Given the description of an element on the screen output the (x, y) to click on. 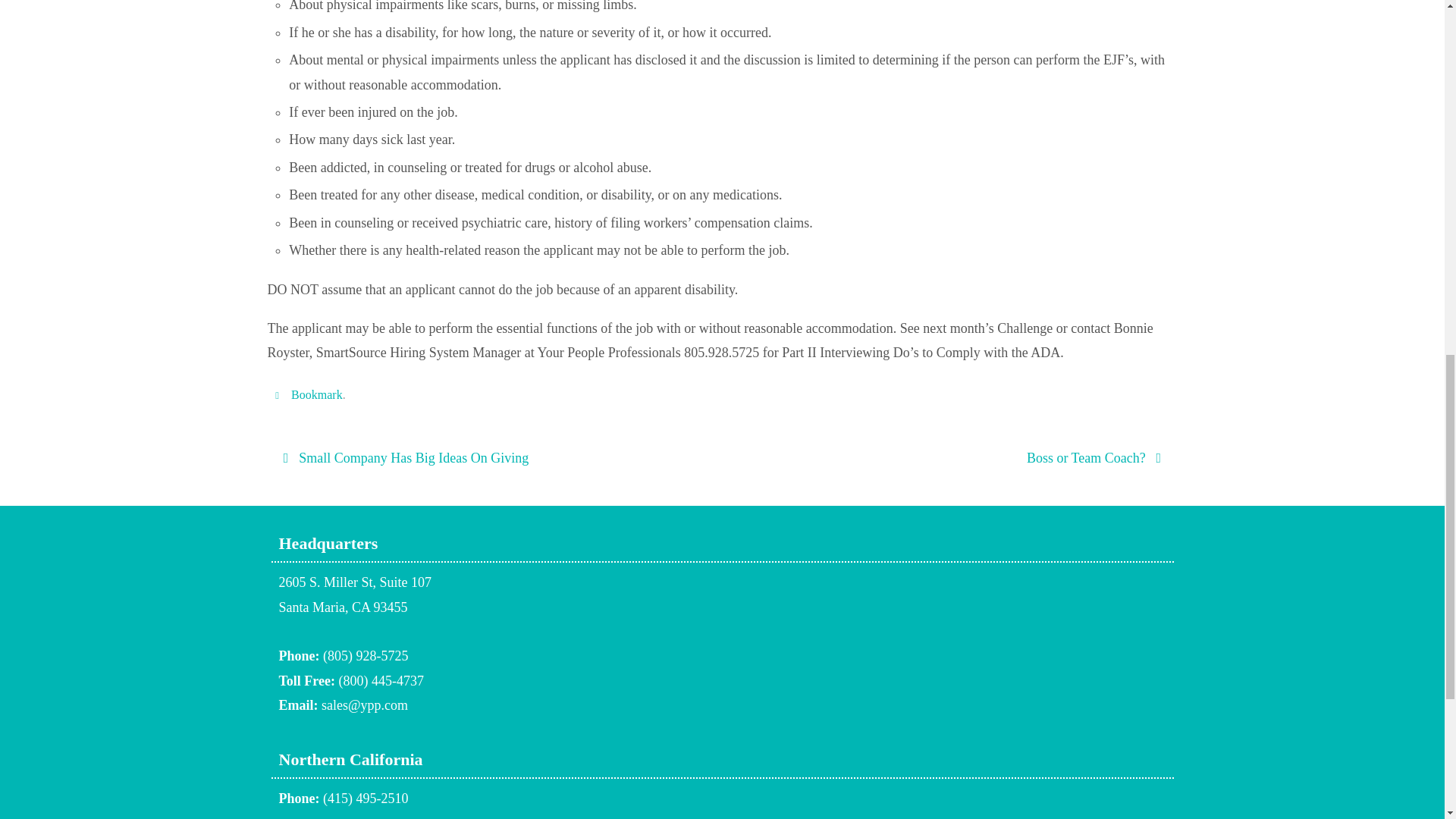
Small Company Has Big Ideas On Giving (489, 457)
Boss or Team Coach? (953, 457)
Bookmark (722, 604)
 Bookmark the permalink (316, 395)
